Given the description of an element on the screen output the (x, y) to click on. 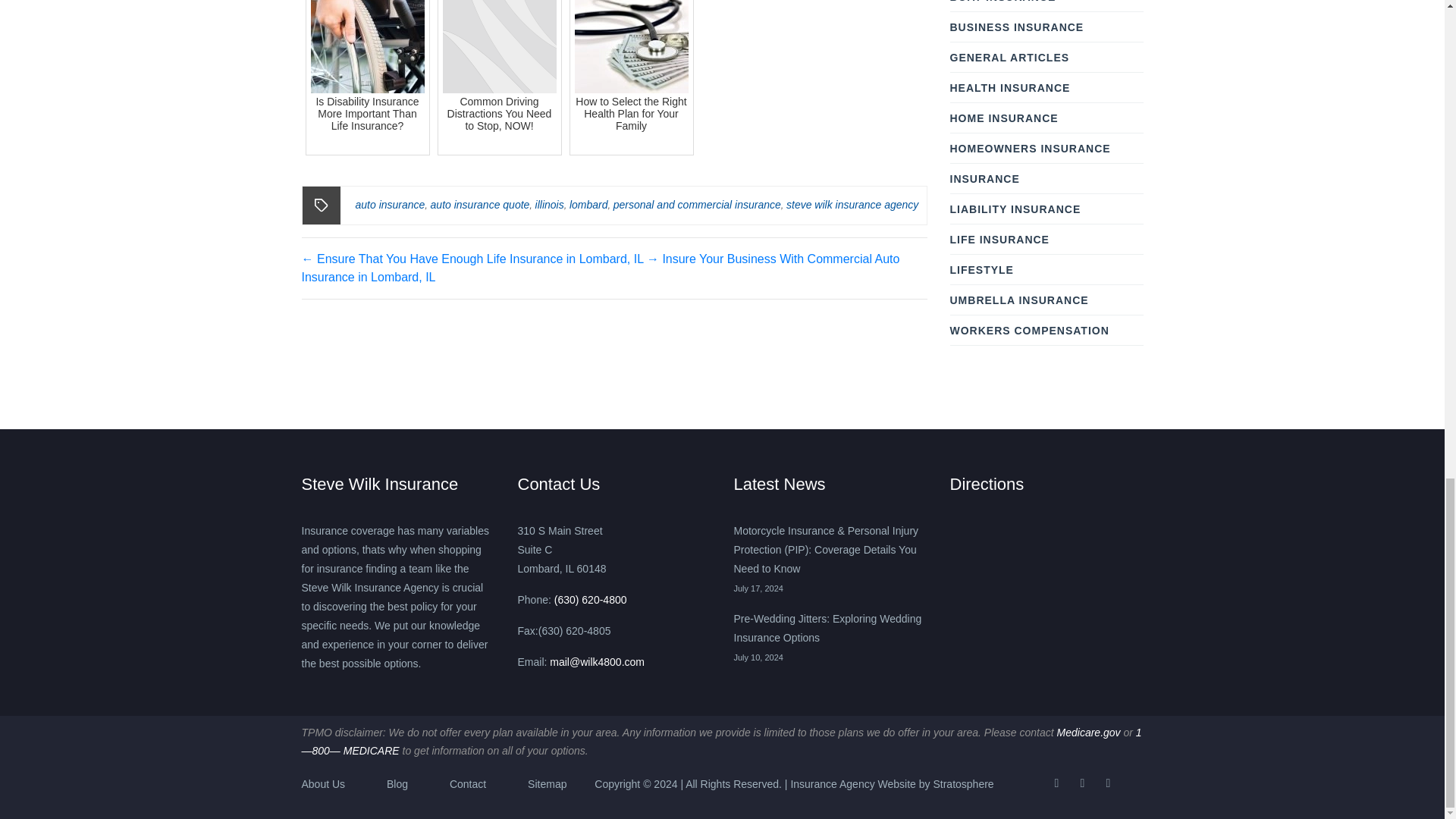
Linkedin (1107, 783)
personal and commercial insurance (696, 204)
illinois (549, 204)
steve wilk insurance agency (852, 204)
Email (597, 662)
auto insurance (390, 204)
Contact (467, 784)
Phone (589, 599)
Sitemap (546, 784)
Twitter (1081, 783)
About Us (323, 784)
How to Select the Right Health Plan for Your Family (631, 77)
Is Disability Insurance More Important Than Life Insurance? (366, 77)
Facebook (1056, 783)
Blog (397, 784)
